Given the description of an element on the screen output the (x, y) to click on. 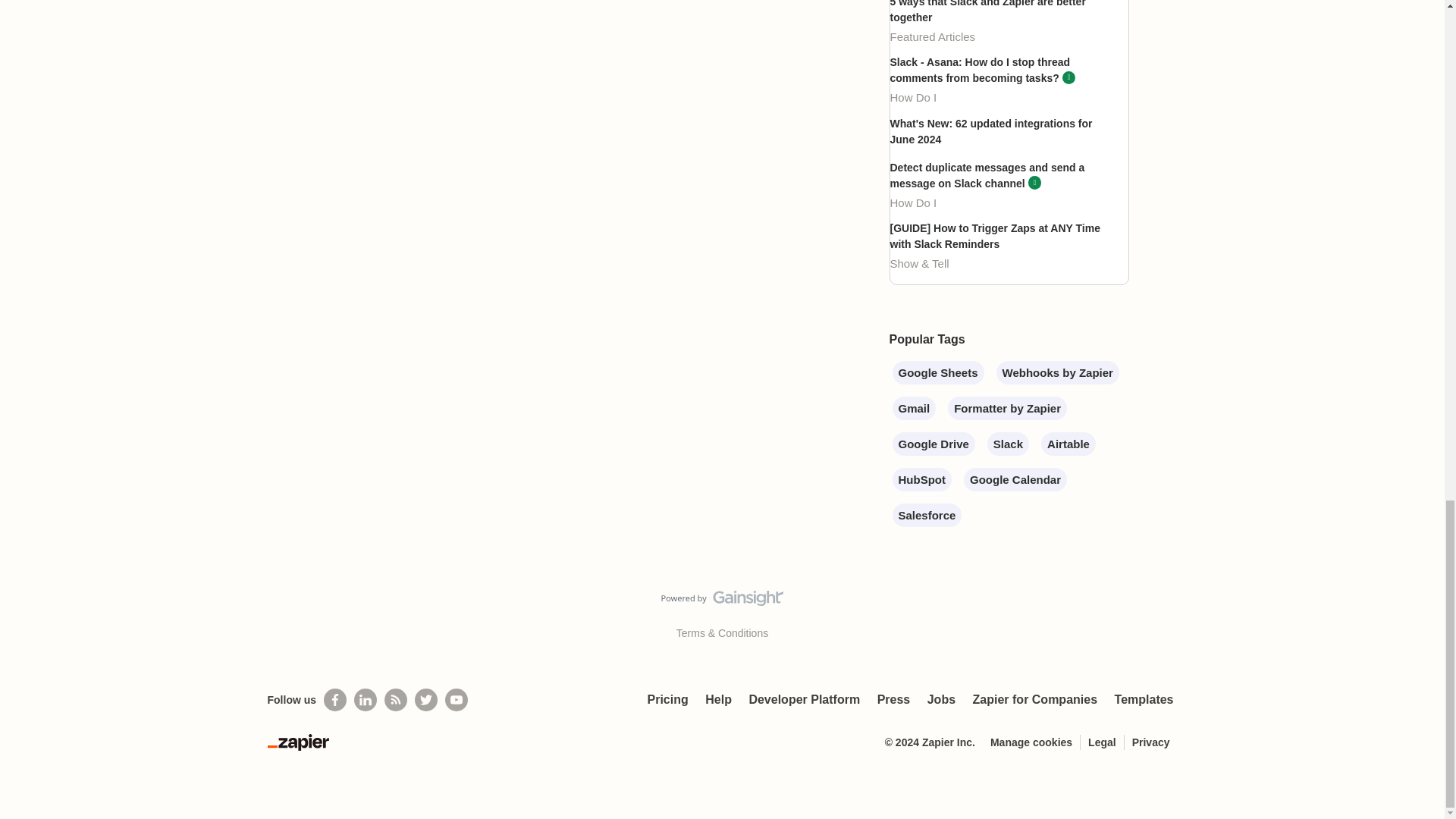
Follow us on LinkedIn (365, 699)
Subscribe to our blog (395, 699)
Follow us on Facebook (334, 699)
See helpful Zapier videos on Youtube (456, 699)
Visit Gainsight.com (722, 601)
